Given the description of an element on the screen output the (x, y) to click on. 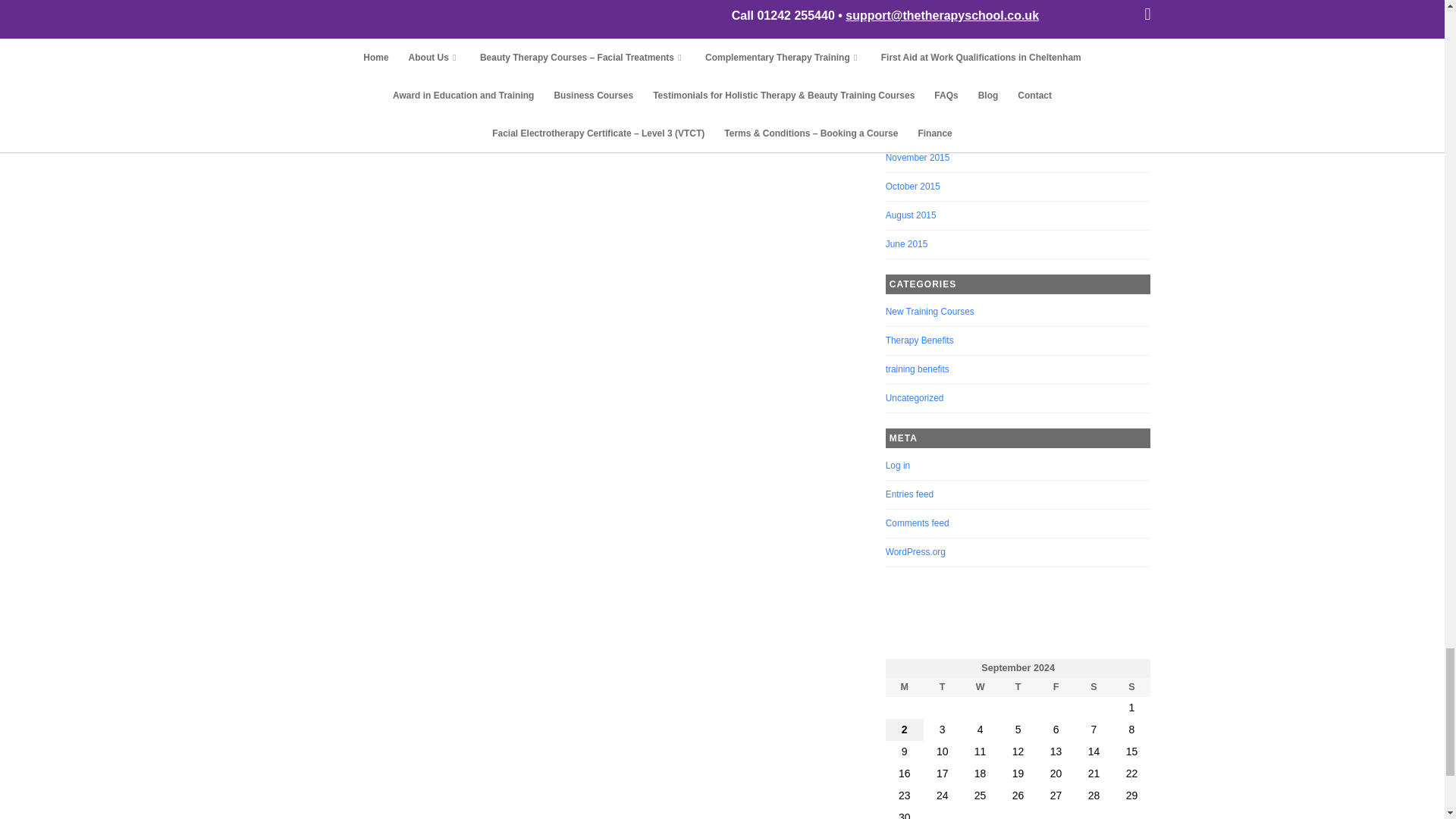
Monday (904, 687)
Saturday (1094, 687)
Sunday (1131, 687)
Friday (1055, 687)
Thursday (1017, 687)
Tuesday (941, 687)
Wednesday (979, 687)
